Given the description of an element on the screen output the (x, y) to click on. 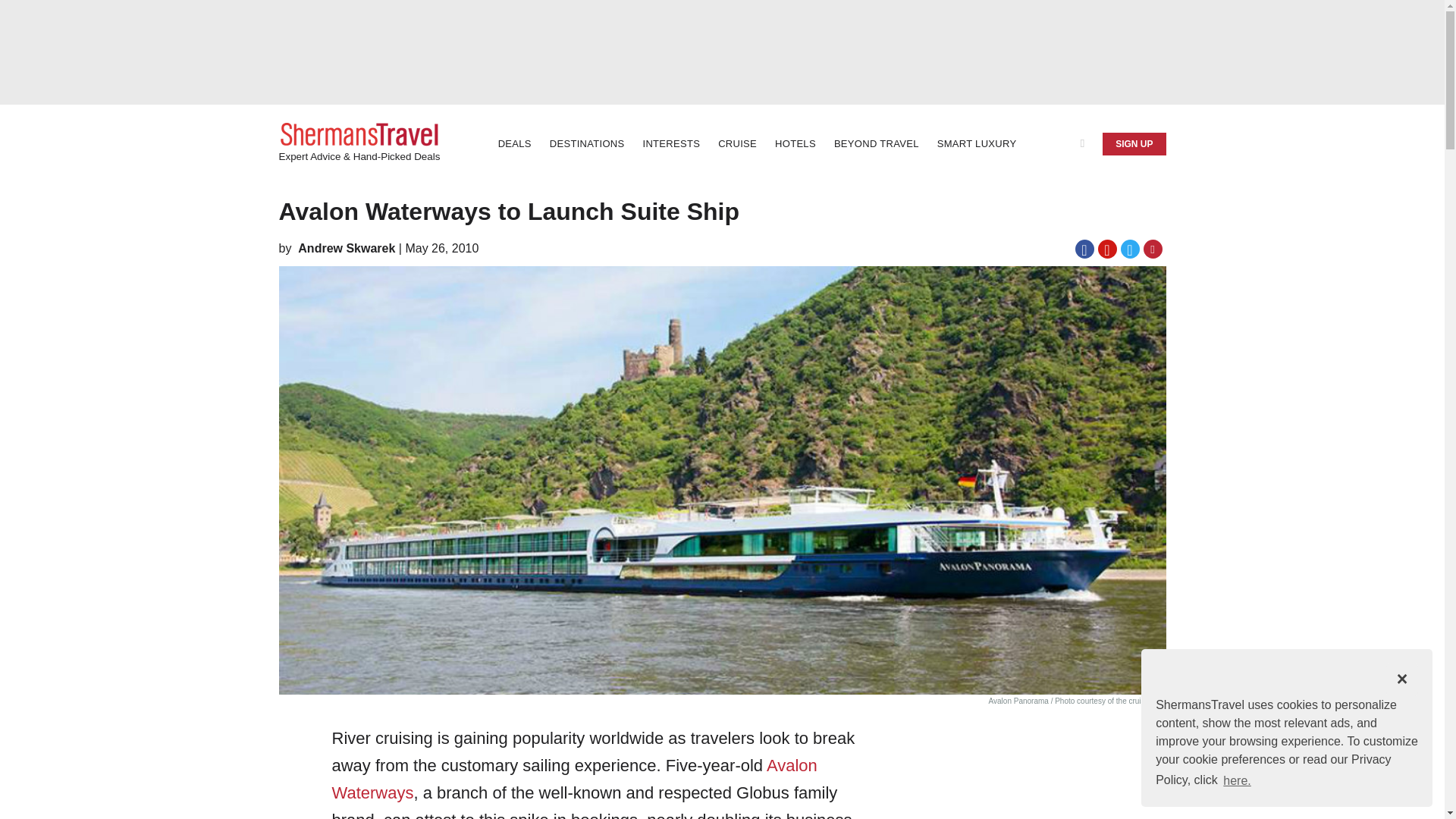
BEYOND TRAVEL (876, 143)
3rd party ad content (1052, 801)
HOTELS (795, 143)
DEALS (514, 143)
DESTINATIONS (586, 143)
INTERESTS (671, 143)
CRUISE (737, 143)
3rd party ad content (721, 52)
SMART LUXURY (977, 143)
SIGN UP (1134, 143)
Avalon Waterways (573, 778)
here. (1237, 780)
